Given the description of an element on the screen output the (x, y) to click on. 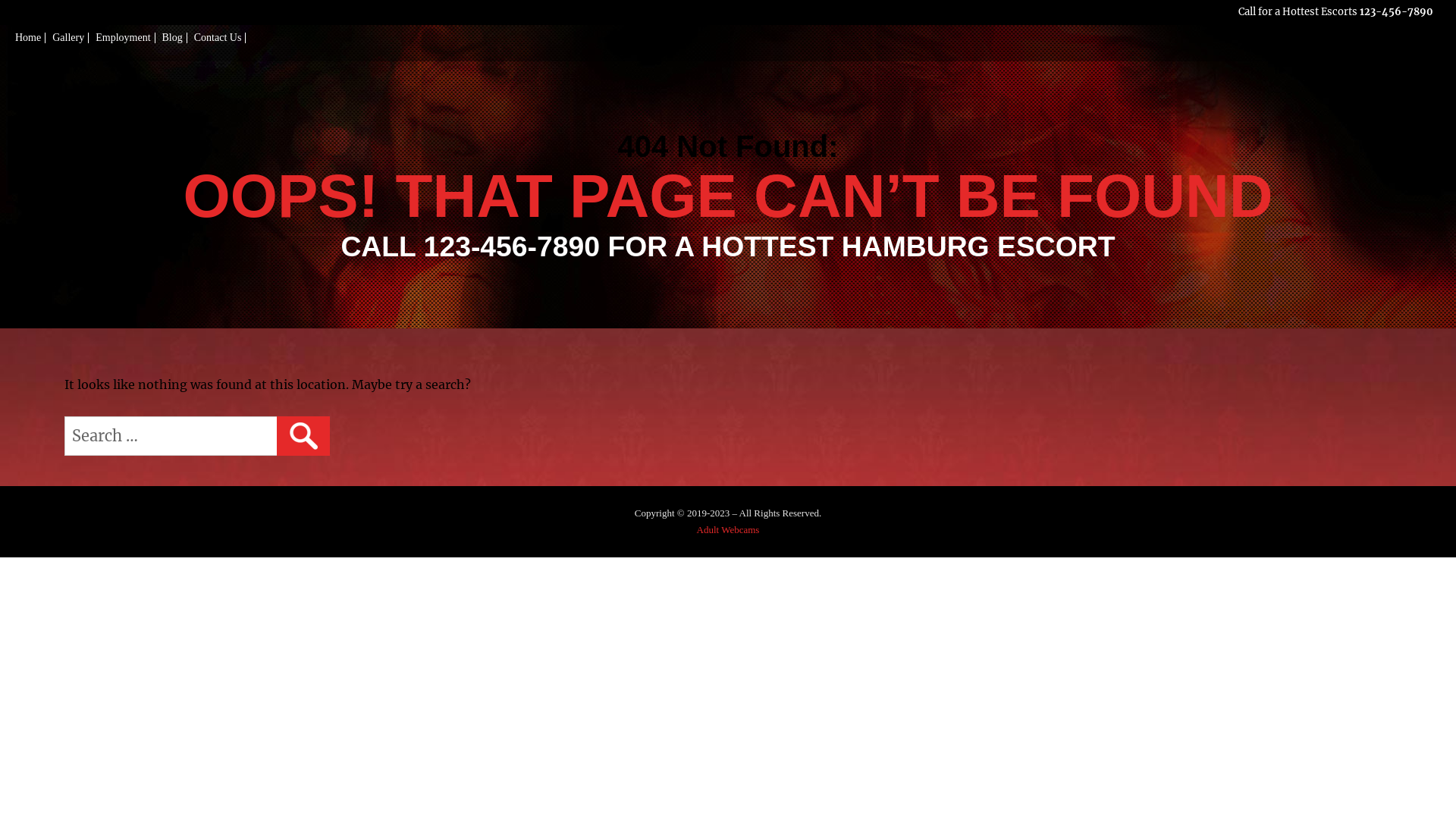
Gallery Element type: text (68, 37)
SEARCH Element type: text (302, 435)
Blog Element type: text (172, 37)
Home Element type: text (28, 37)
Adult Webcams Element type: text (727, 529)
Employment Element type: text (122, 37)
Contact Us Element type: text (218, 37)
